Given the description of an element on the screen output the (x, y) to click on. 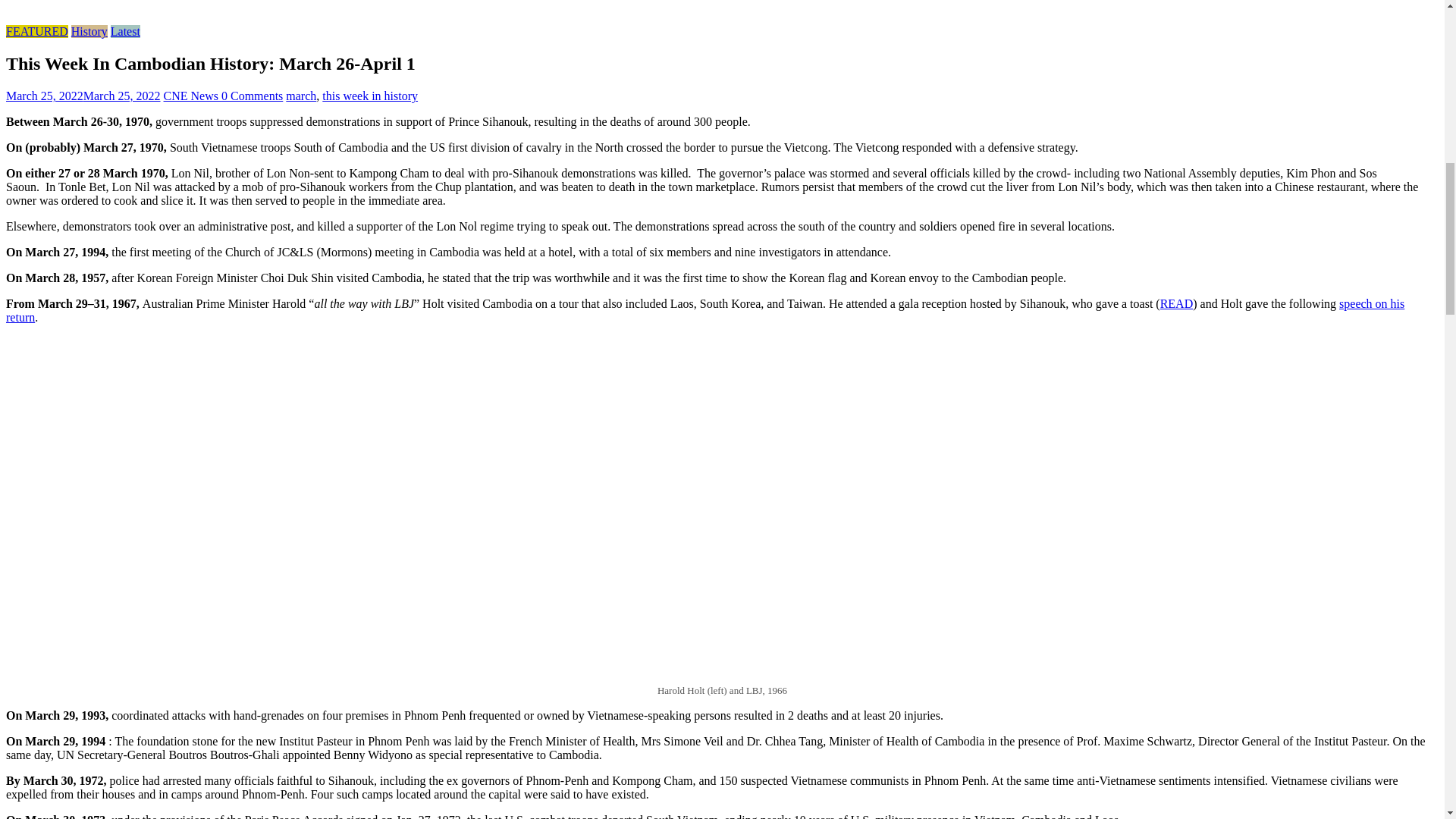
0 Comments (251, 95)
CNE News (192, 95)
History (89, 31)
FEATURED (36, 31)
9:19 am (82, 95)
March 25, 2022March 25, 2022 (82, 95)
READ (1176, 303)
CNE News (192, 95)
this week in history (369, 95)
march (300, 95)
speech on his return (705, 310)
Latest (124, 31)
